Given the description of an element on the screen output the (x, y) to click on. 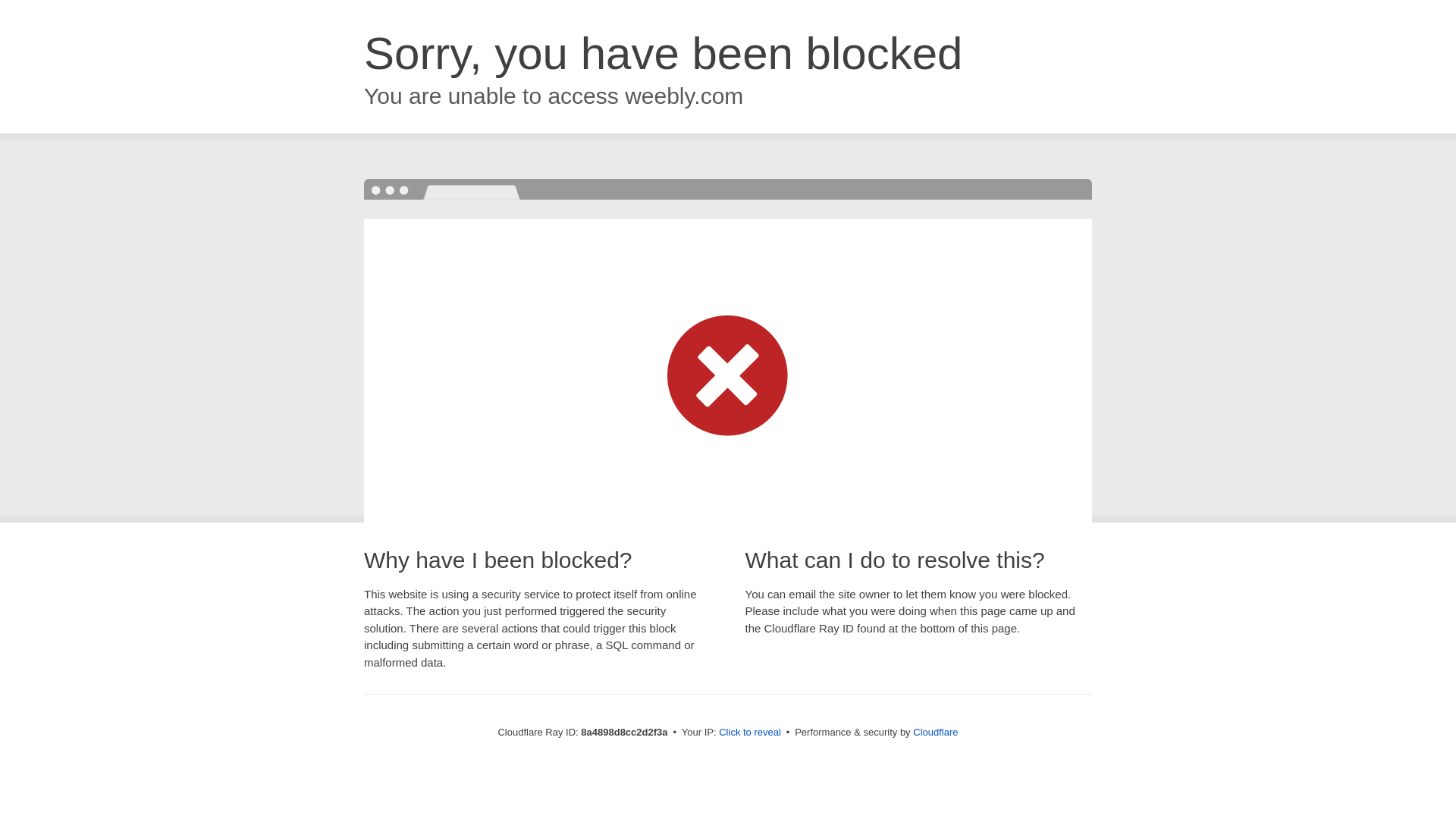
Click to reveal (749, 732)
Cloudflare (935, 731)
